Given the description of an element on the screen output the (x, y) to click on. 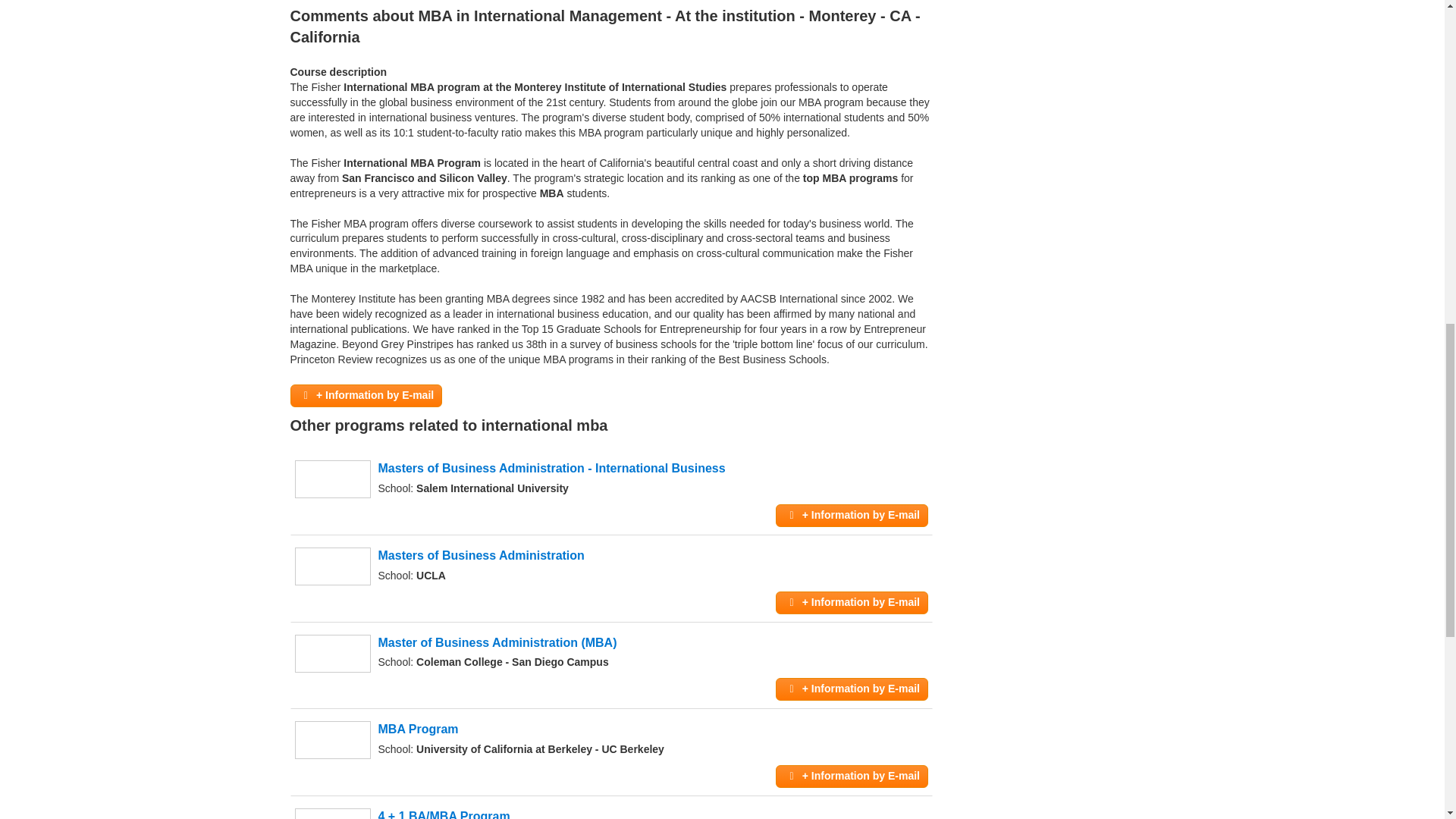
Masters of Business Administration (480, 554)
Masters of Business Administration - International Business (551, 468)
